Given the description of an element on the screen output the (x, y) to click on. 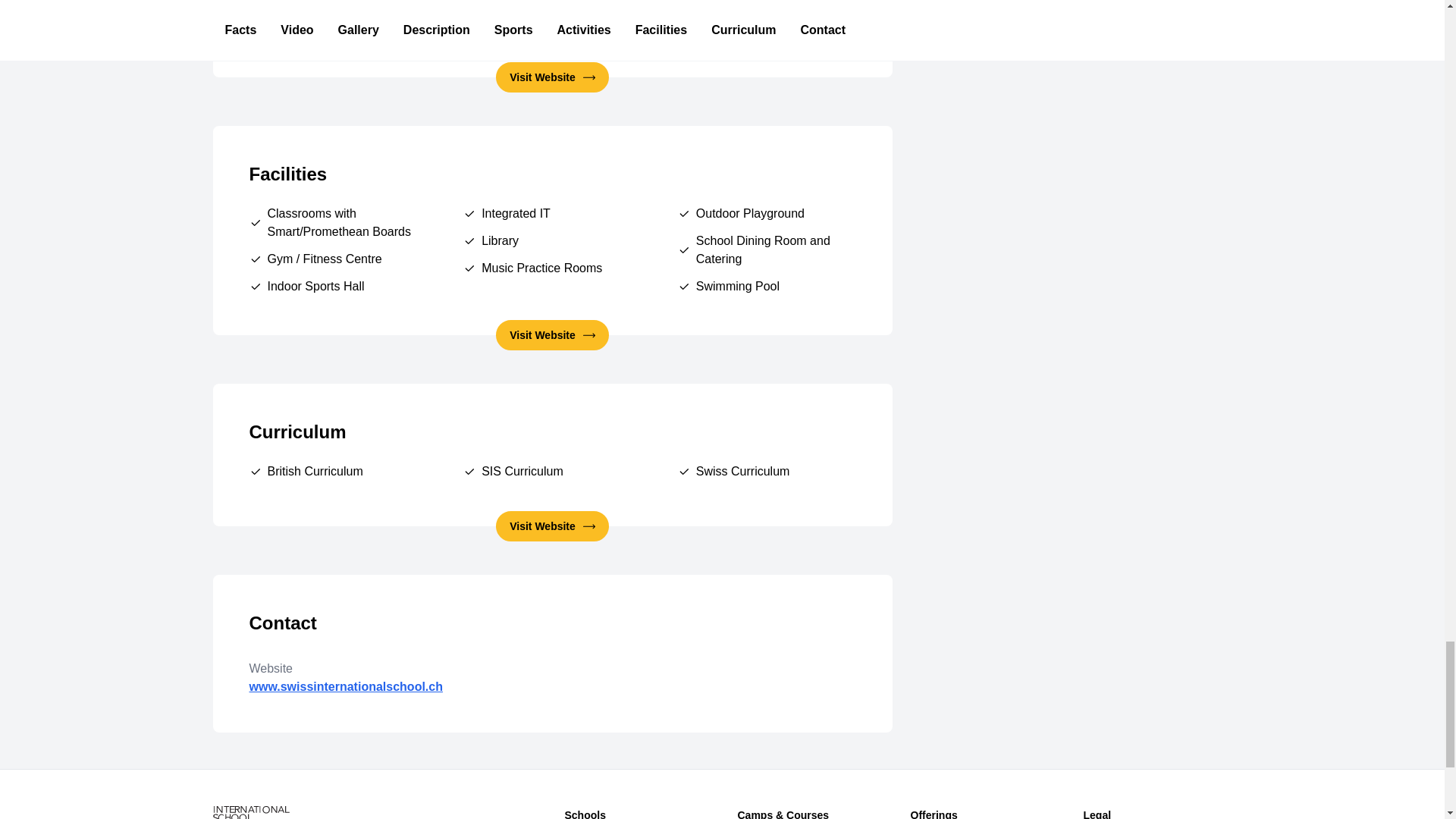
Visit Website (552, 335)
Visit Website (552, 526)
Visit Website (552, 77)
www.swissinternationalschool.ch (551, 653)
